Given the description of an element on the screen output the (x, y) to click on. 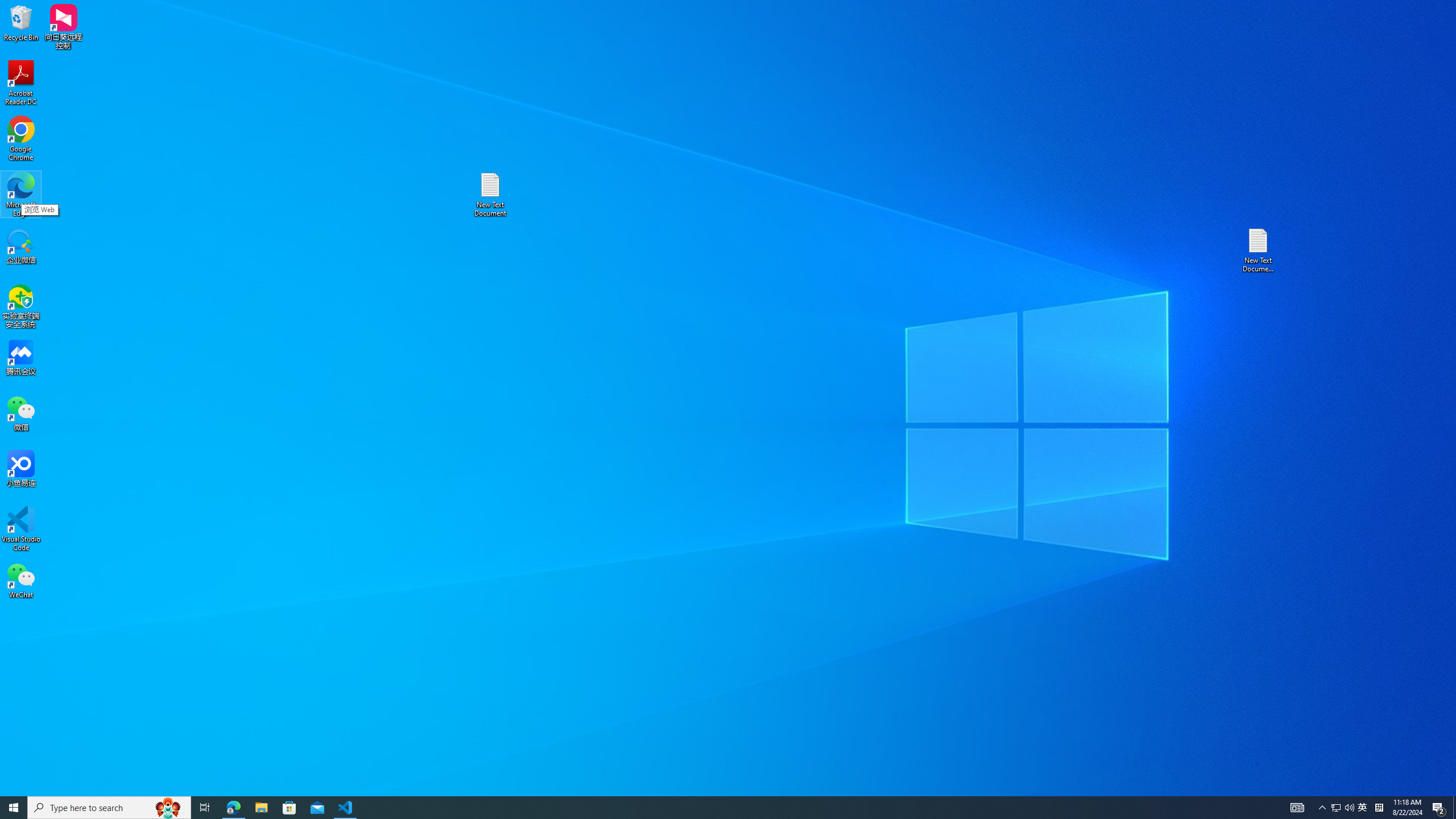
Start (13, 807)
Microsoft Edge (21, 194)
Acrobat Reader DC (21, 82)
Tray Input Indicator - Chinese (Simplified, China) (1378, 807)
Visual Studio Code - 1 running window (345, 807)
Action Center, 2 new notifications (1439, 807)
Running applications (707, 807)
Task View (204, 807)
Show desktop (1362, 807)
Google Chrome (1335, 807)
AutomationID: 4105 (1454, 807)
Microsoft Store (21, 138)
New Text Document (2) (1297, 807)
